Given the description of an element on the screen output the (x, y) to click on. 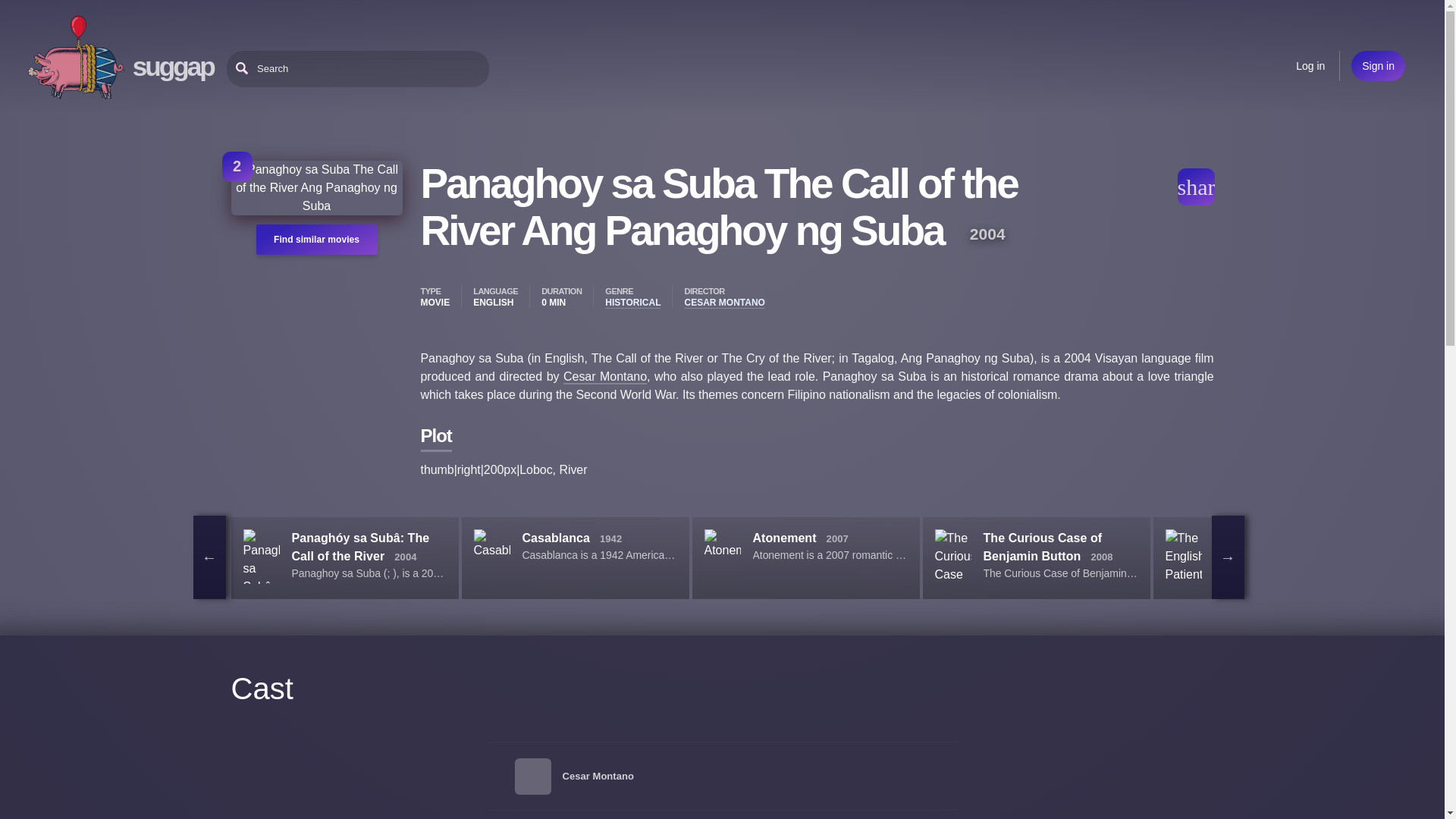
Log in (1309, 65)
Cesar Montano (604, 377)
Share (1195, 186)
suggap (173, 66)
CESAR MONTANO (724, 302)
share (1195, 186)
Score (236, 166)
Atonement (783, 537)
Oink, oink... (76, 57)
Cesar Montano (597, 776)
